Given the description of an element on the screen output the (x, y) to click on. 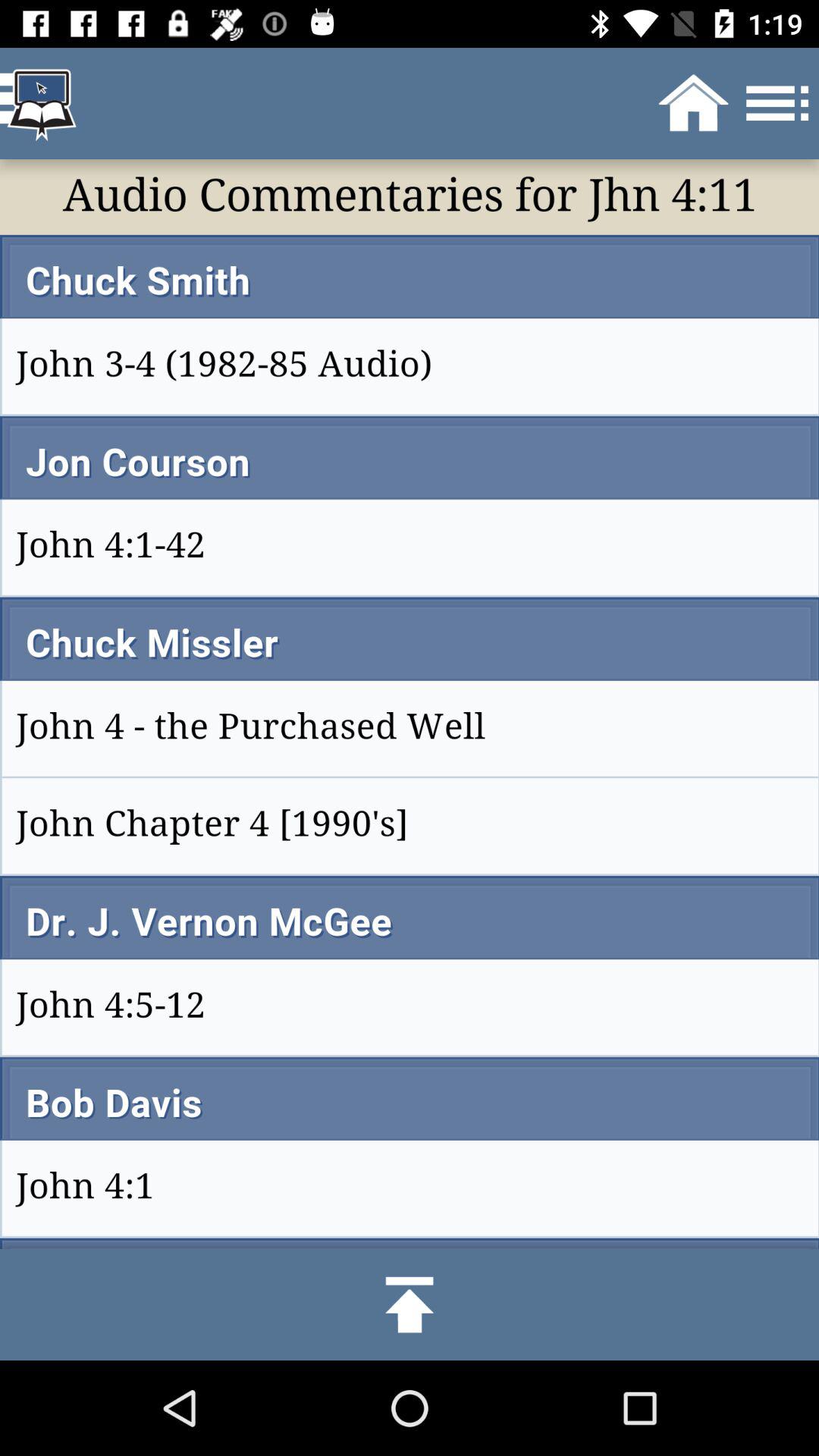
click the upload option (409, 1304)
